Given the description of an element on the screen output the (x, y) to click on. 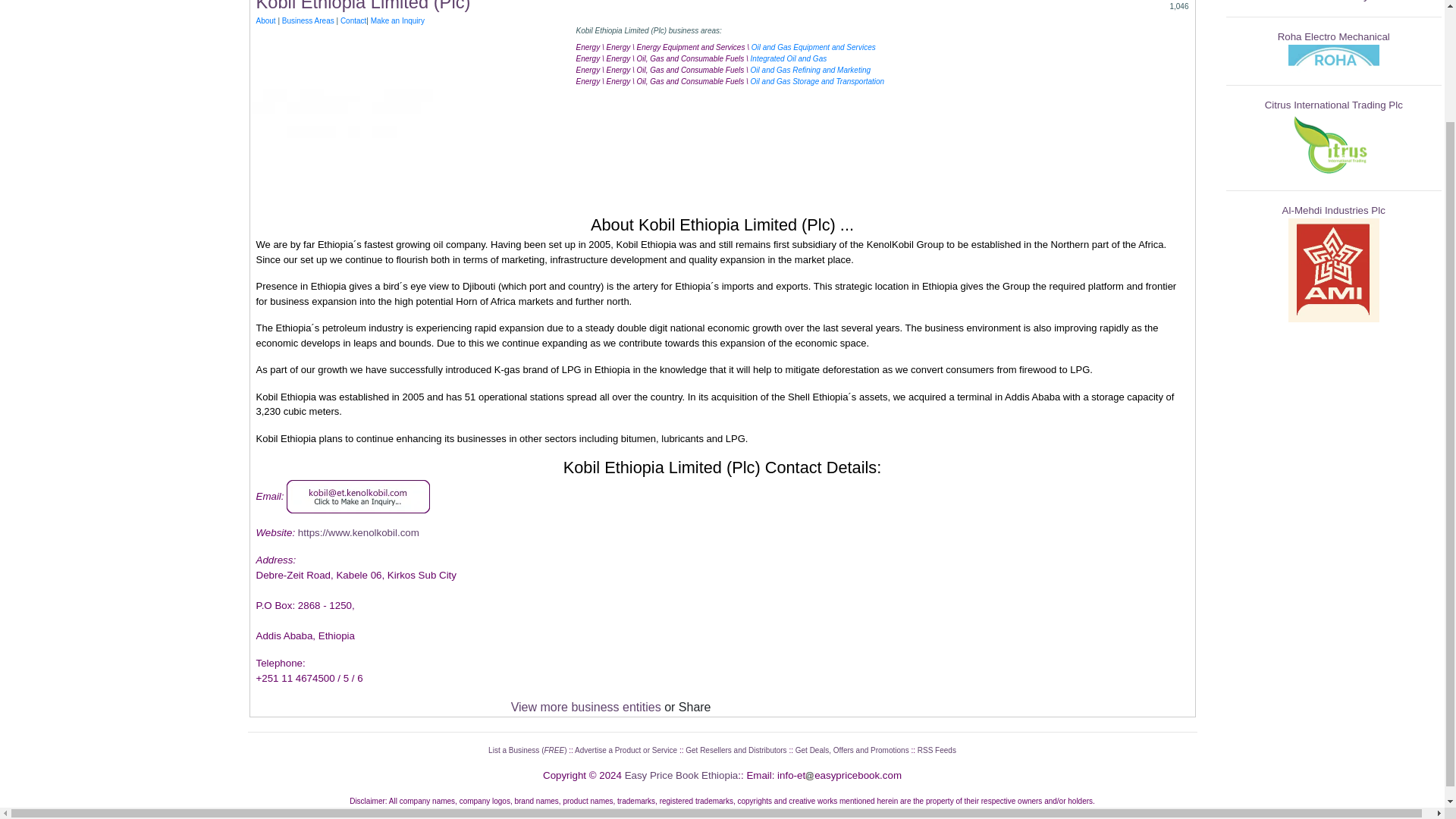
Get Resellers and Distributors (735, 750)
Al-Mehdi Industries Plc (1334, 210)
Get Deals, Offers and Promotions (851, 750)
Click for more details on Citrus International Trading Plc (1334, 104)
Make an Inquiry (398, 20)
Click for more details on Roha Electro Mechanical (1333, 56)
Roha Electro Mechanical (1334, 36)
Oil and Gas Equipment and Services (813, 47)
Oil and Gas Storage and Transportation (818, 80)
